Given the description of an element on the screen output the (x, y) to click on. 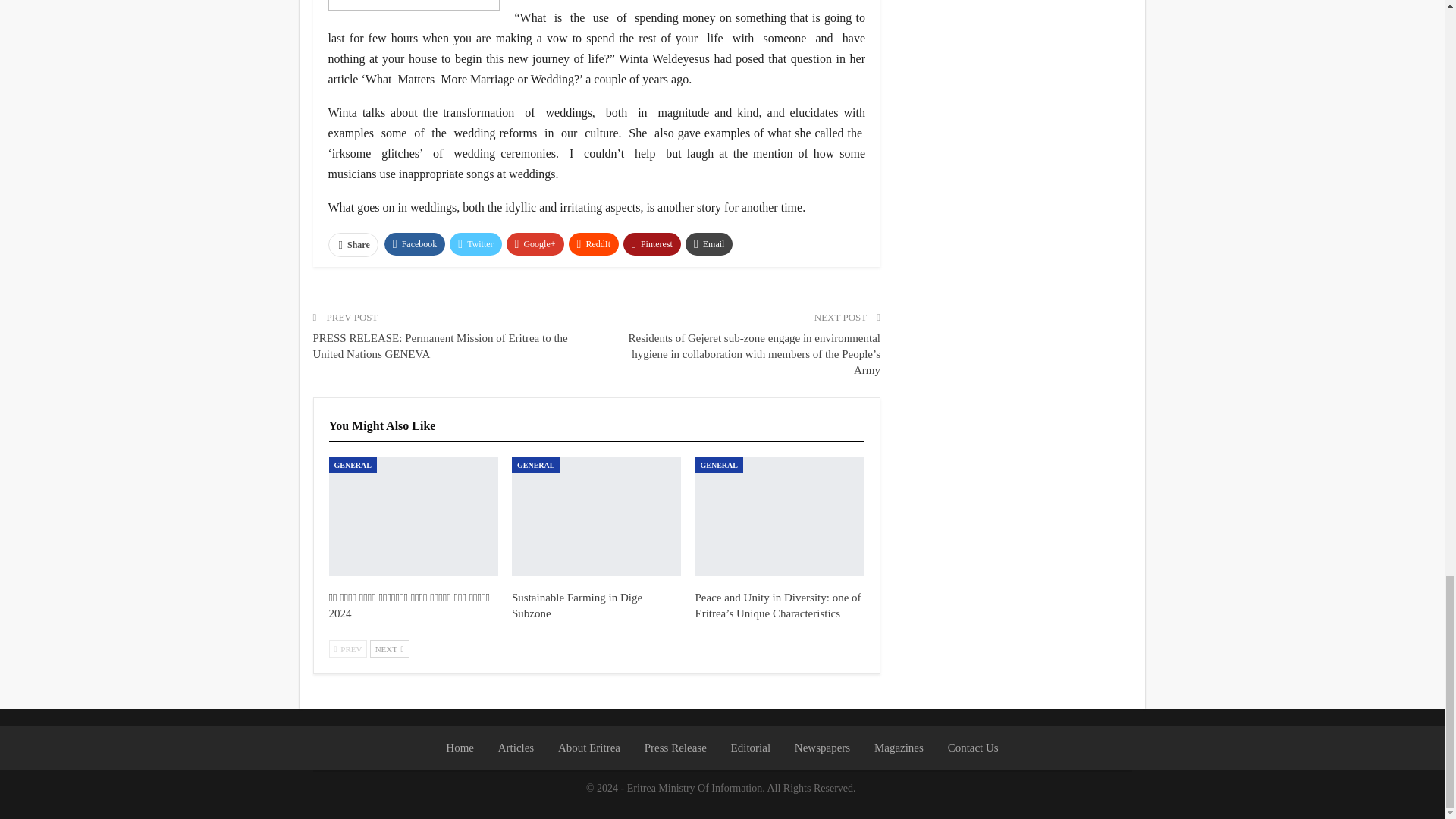
Sustainable Farming in Dige Subzone (577, 605)
Next (389, 648)
Sustainable Farming in Dige Subzone (596, 516)
Previous (348, 648)
